Given the description of an element on the screen output the (x, y) to click on. 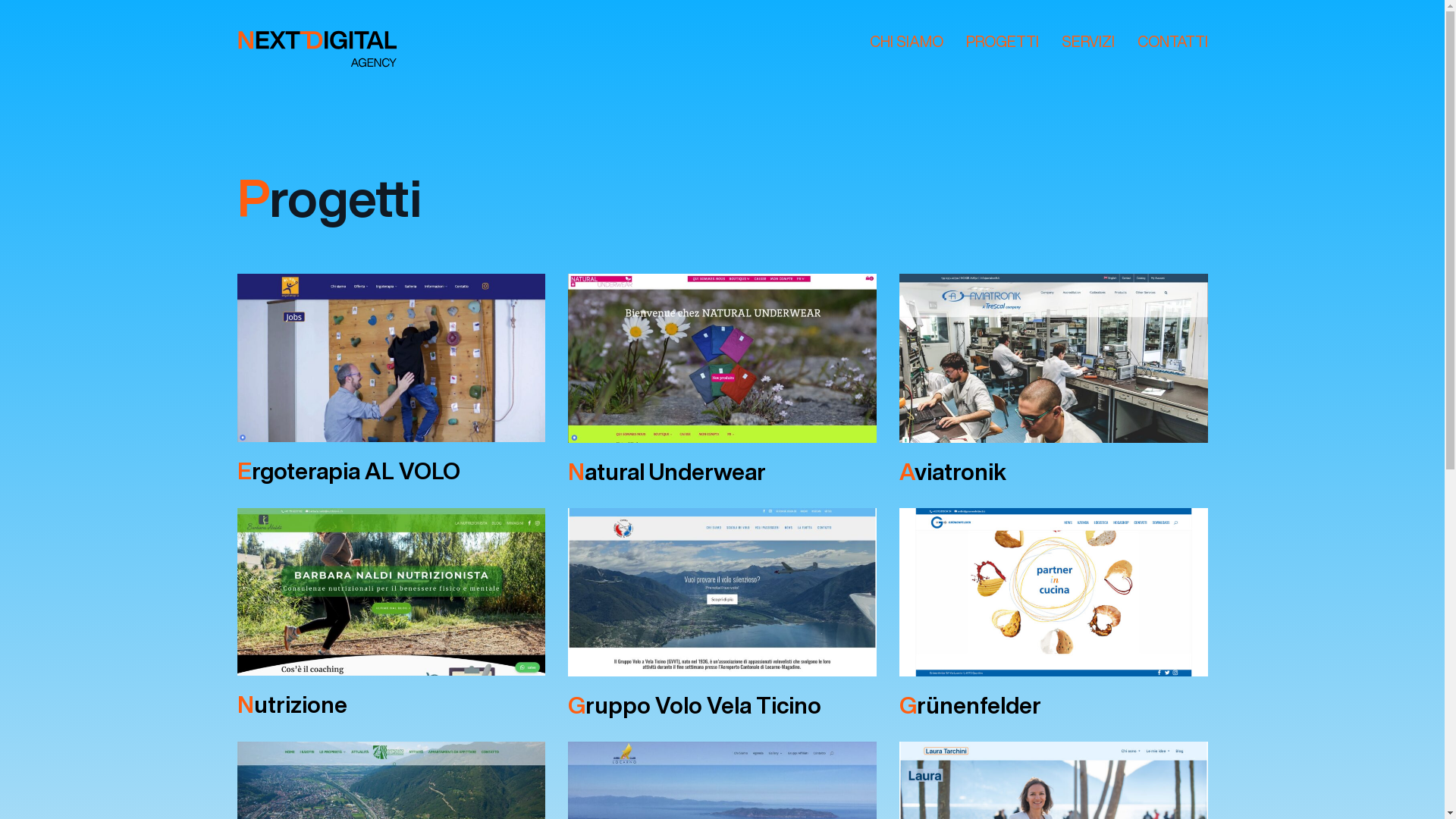
PROGETTI Element type: text (1002, 41)
Aviatronik Element type: text (952, 471)
Nutrizione Element type: text (291, 704)
Natural Underwear Element type: text (666, 471)
Ergoterapia AL VOLO Element type: text (347, 470)
SERVIZI Element type: text (1087, 41)
CONTATTI Element type: text (1172, 41)
CHI SIAMO Element type: text (905, 41)
Gruppo Volo Vela Ticino Element type: text (694, 704)
